Given the description of an element on the screen output the (x, y) to click on. 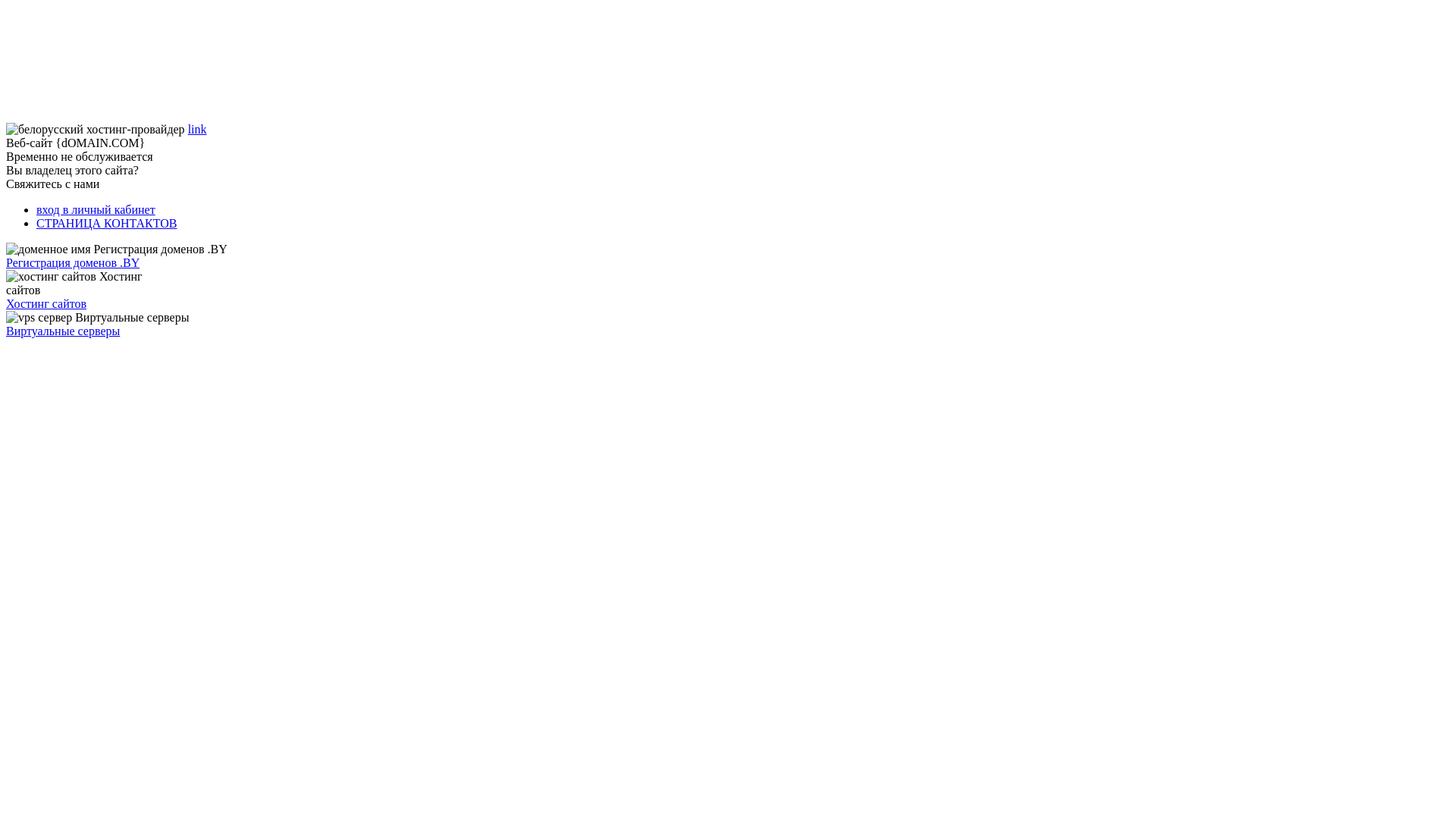
link Element type: text (197, 128)
